Given the description of an element on the screen output the (x, y) to click on. 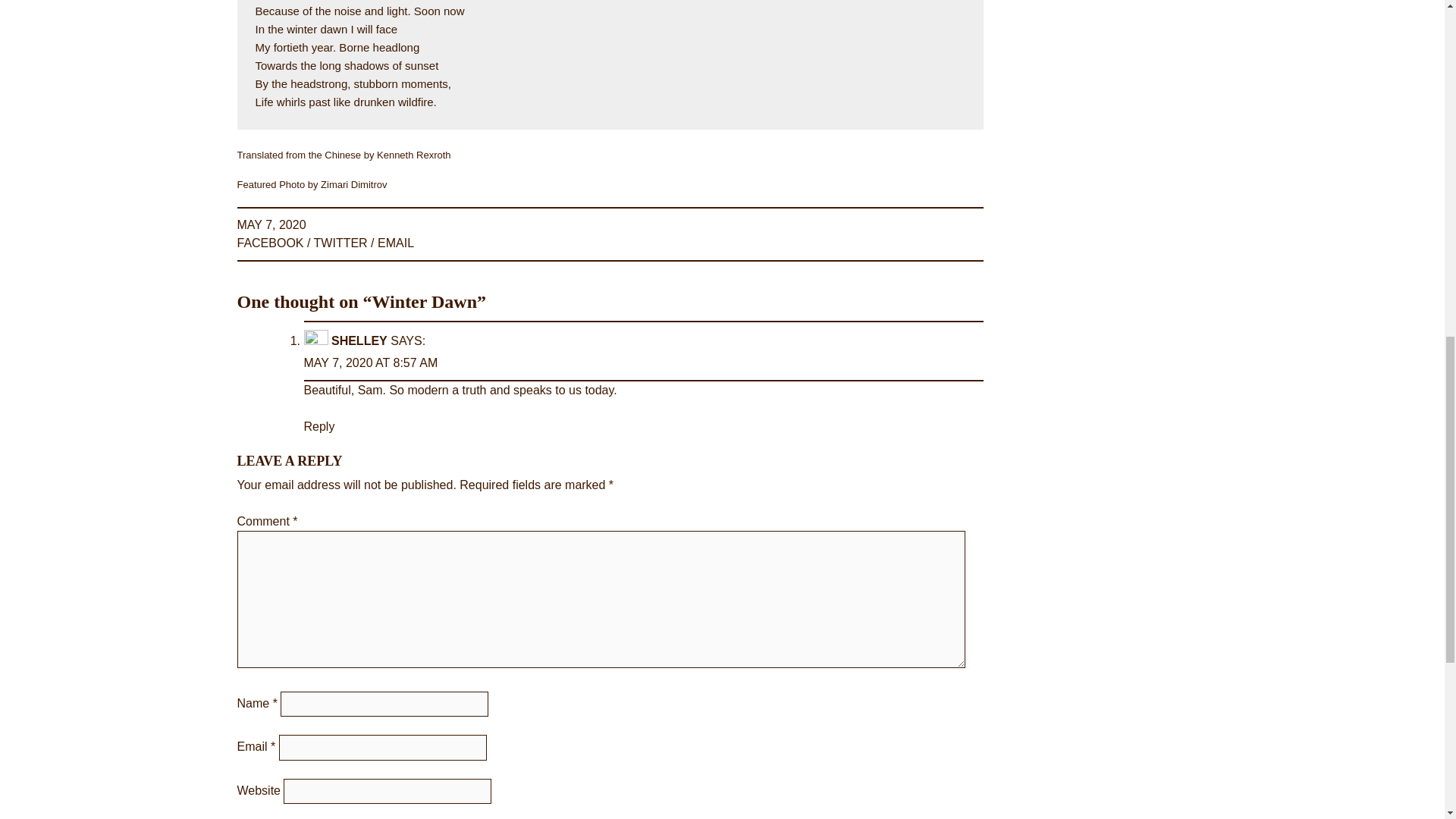
TWITTER (341, 242)
EMAIL (395, 242)
FACEBOOK (268, 242)
MAY 7, 2020 AT 8:57 AM (370, 362)
Reply (318, 426)
